Given the description of an element on the screen output the (x, y) to click on. 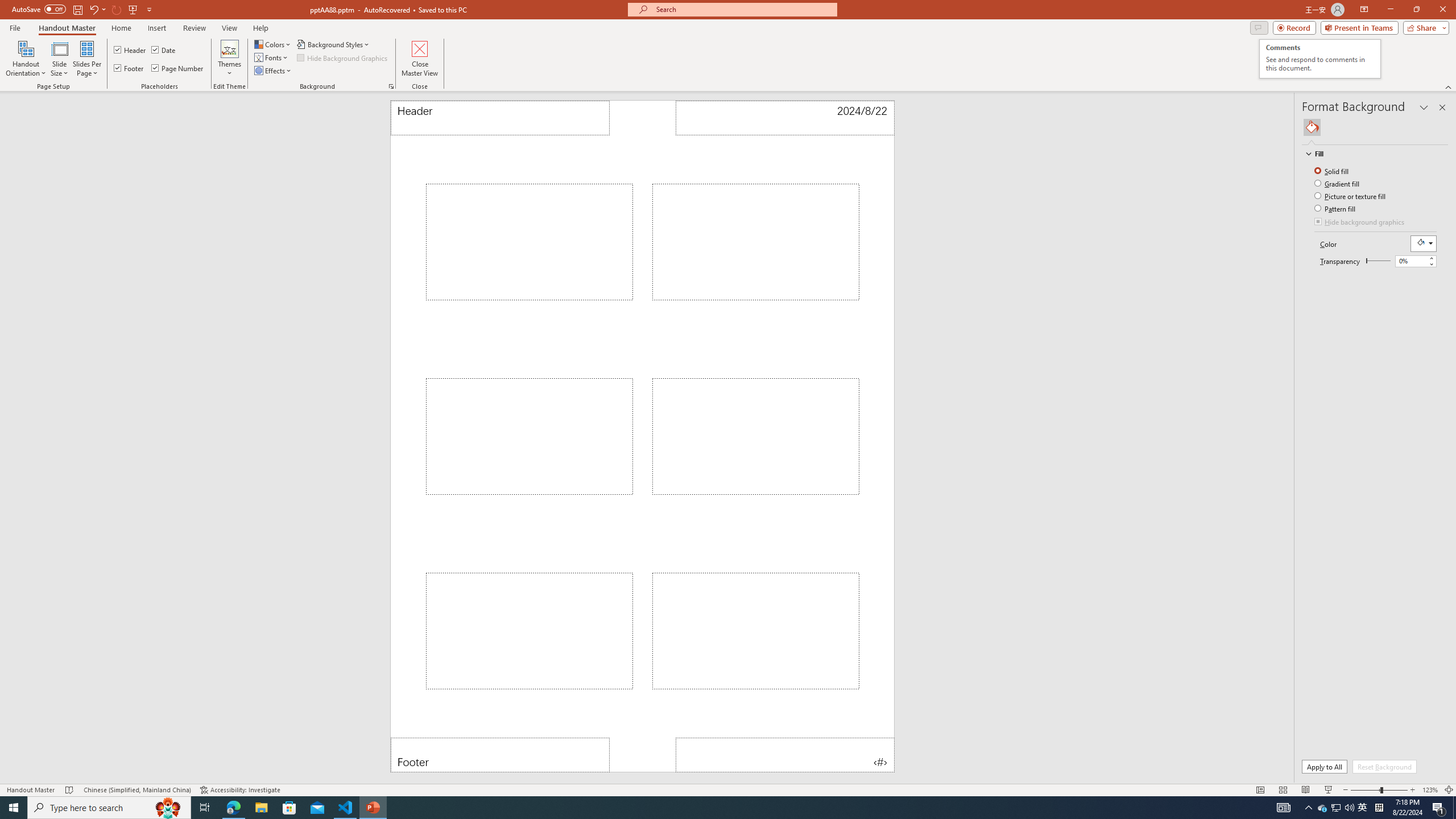
Header (500, 117)
Footer (129, 67)
Handout Orientation (26, 58)
Effects (273, 69)
Page Number (784, 754)
Fill Color RGB(255, 255, 255) (1423, 243)
Solid fill (1332, 170)
Zoom 123% (1430, 790)
Date (784, 117)
Transparency (1411, 260)
